Given the description of an element on the screen output the (x, y) to click on. 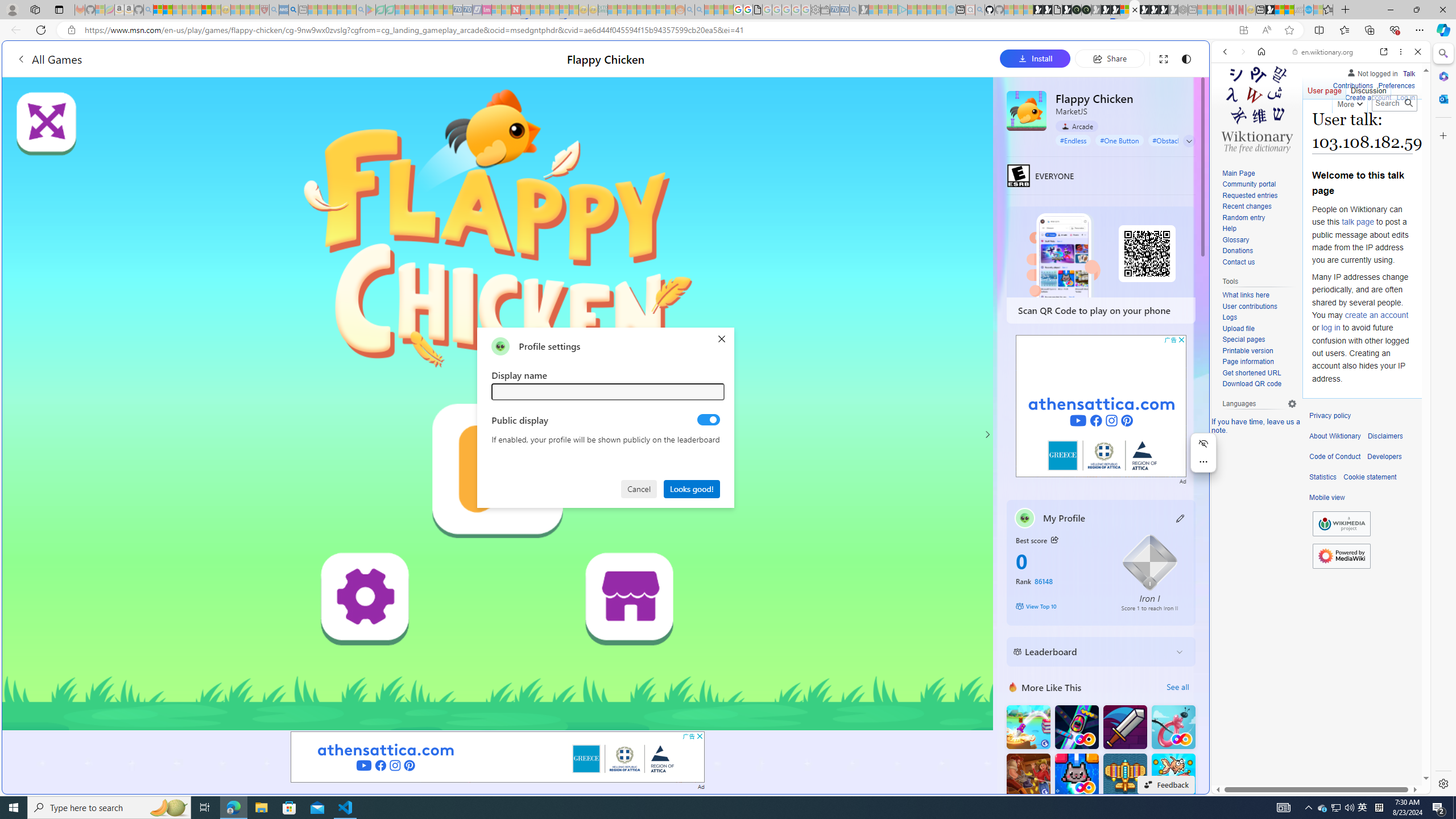
Get shortened URL (1259, 373)
Discussion (1367, 87)
Leaderboard (1091, 651)
Jobs - lastminute.com Investor Portal - Sleeping (486, 9)
Cancel (639, 488)
Fish Merge FRVR (1173, 775)
Full screen (1163, 58)
MSN (1118, 536)
Robert H. Shmerling, MD - Harvard Health - Sleeping (263, 9)
Search Filter, IMAGES (1262, 129)
Play Cave FRVR in your browser | Games from Microsoft Start (922, 242)
Statistics (1322, 477)
